Given the description of an element on the screen output the (x, y) to click on. 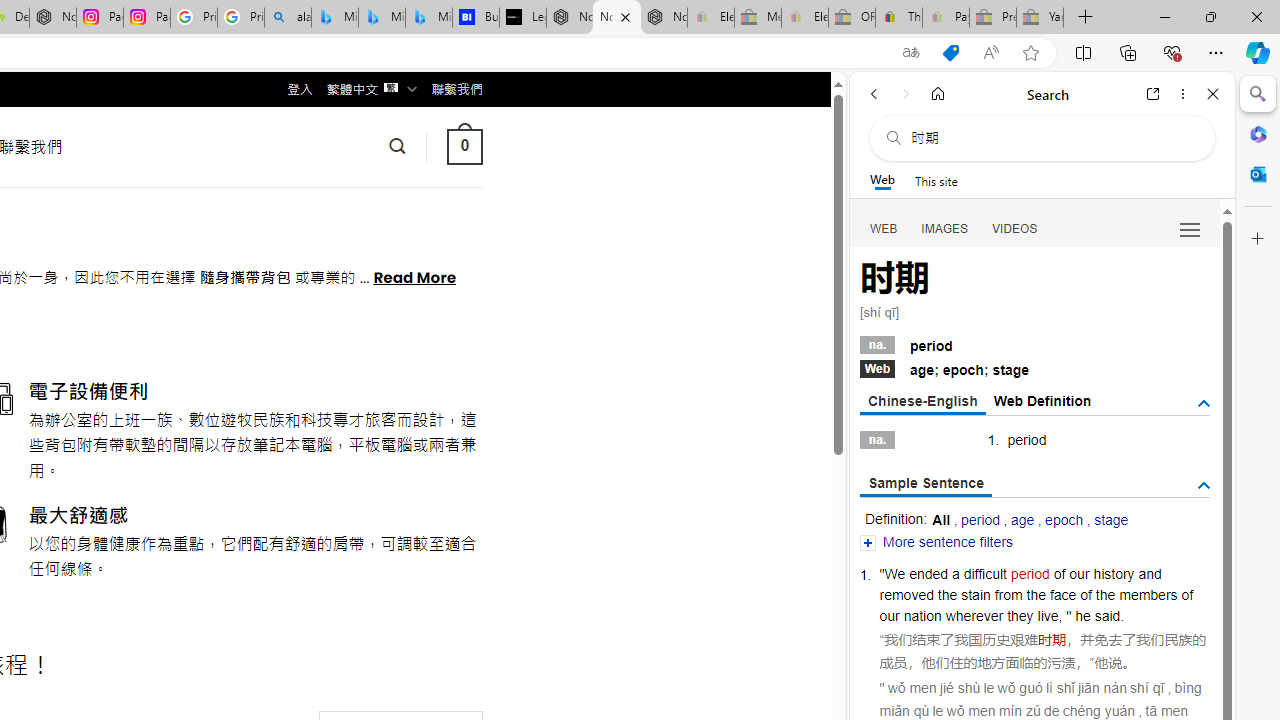
stain (975, 594)
members (1147, 594)
and (1149, 573)
. (1122, 615)
ended (928, 573)
Class: b_serphb (1190, 229)
